Given the description of an element on the screen output the (x, y) to click on. 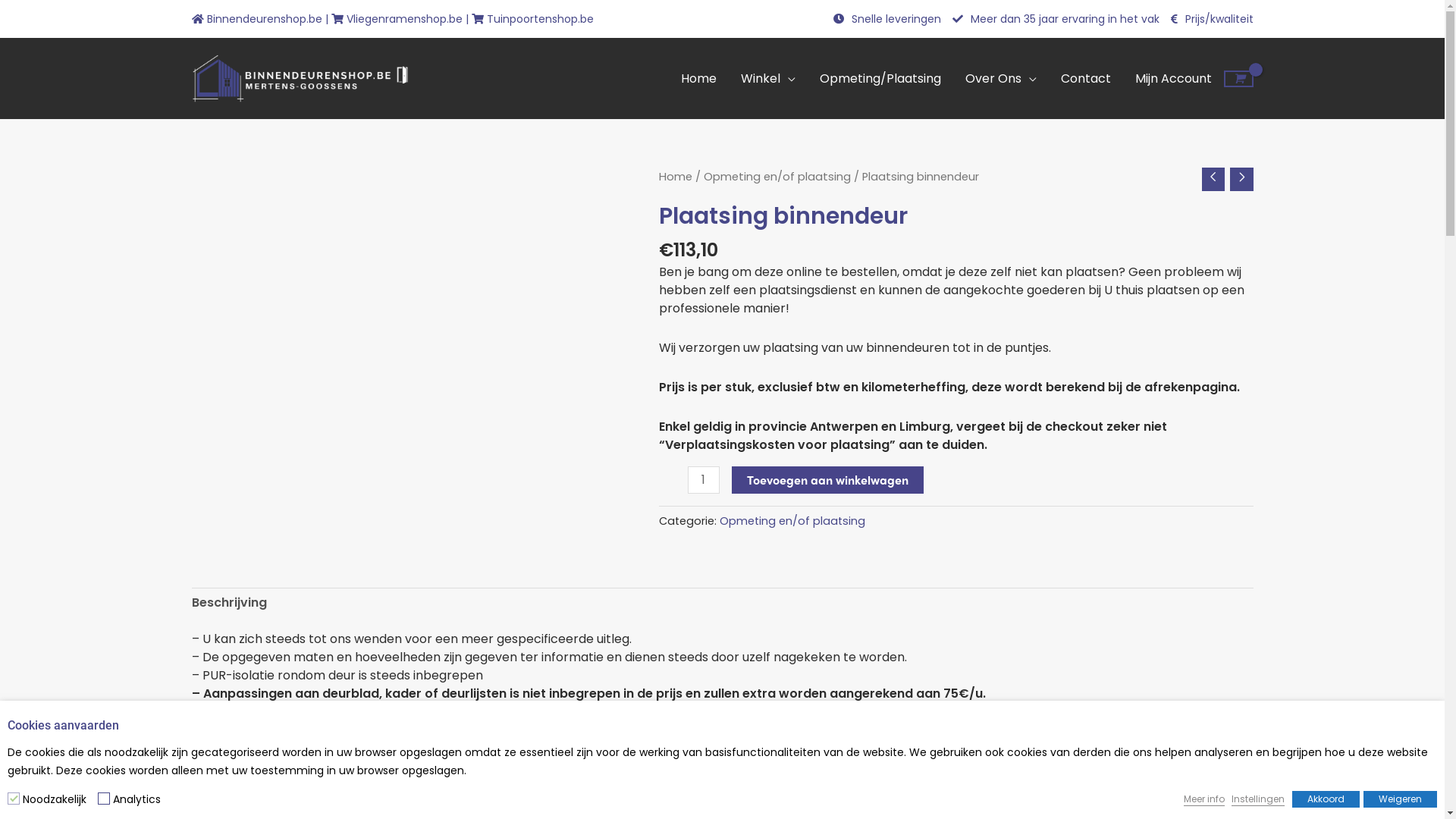
Home Element type: text (674, 176)
Opmeting en/of plaatsing Element type: text (791, 520)
Informatie Element type: text (640, 803)
Weigeren Element type: text (1400, 798)
Akkoord Element type: text (1325, 798)
Vliegenramenshop.be Element type: text (395, 18)
Opmeting en/of plaatsing Element type: text (776, 176)
Binnendeurenshop.be Element type: text (257, 18)
Beschrijving Element type: text (228, 602)
Meer info Element type: text (1203, 799)
Over Ons Element type: text (1000, 78)
Winkel Element type: text (767, 78)
Tuinpoortenshop.be Element type: text (532, 18)
Toevoegen aan winkelwagen Element type: text (827, 479)
Mijn Account Element type: text (1173, 78)
Home Element type: text (698, 78)
Instellingen Element type: text (1257, 799)
Opmeting/Plaatsing Element type: text (880, 78)
Contact Element type: text (1085, 78)
